Given the description of an element on the screen output the (x, y) to click on. 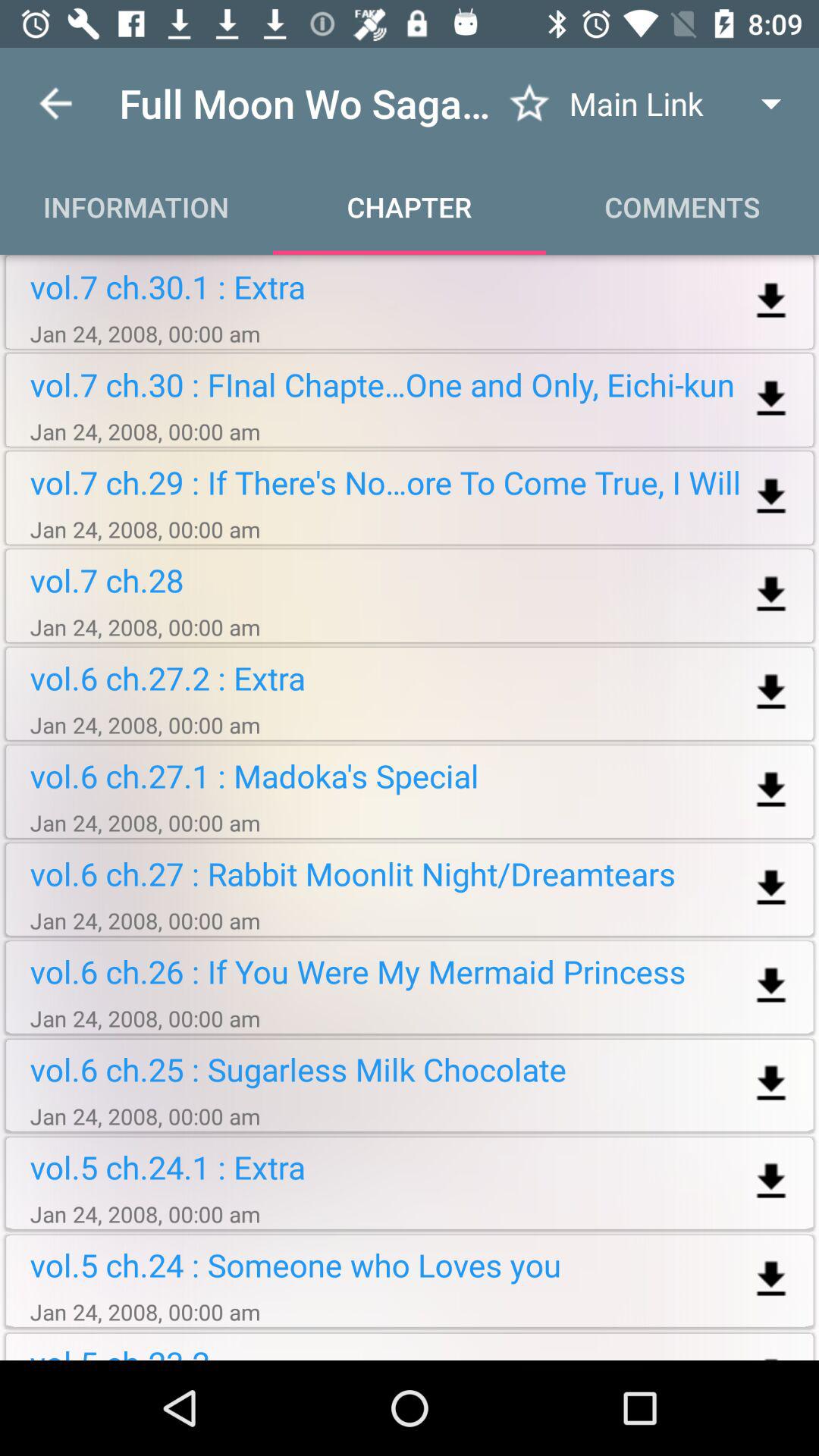
download (771, 1279)
